Given the description of an element on the screen output the (x, y) to click on. 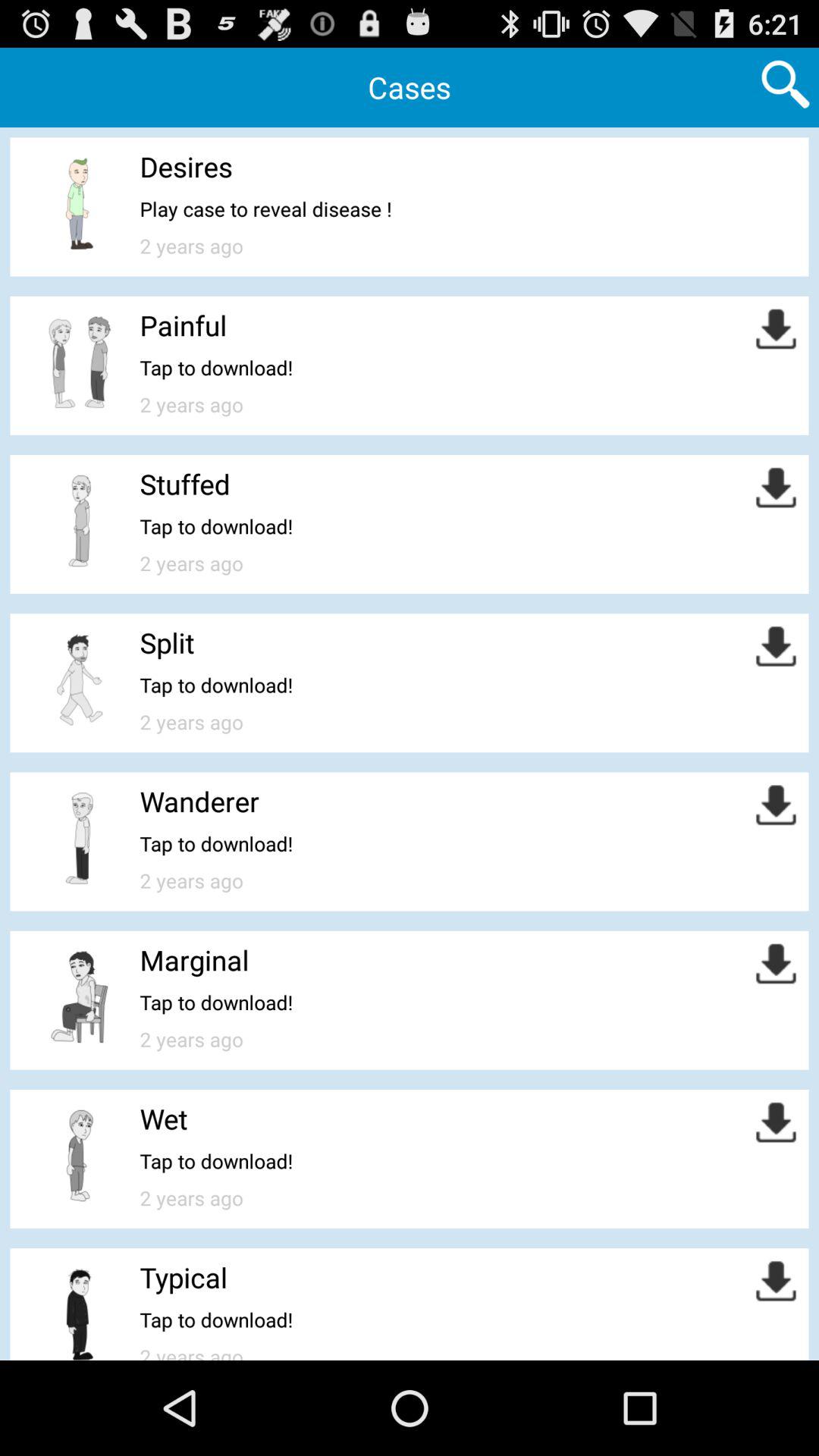
turn off marginal (194, 959)
